Given the description of an element on the screen output the (x, y) to click on. 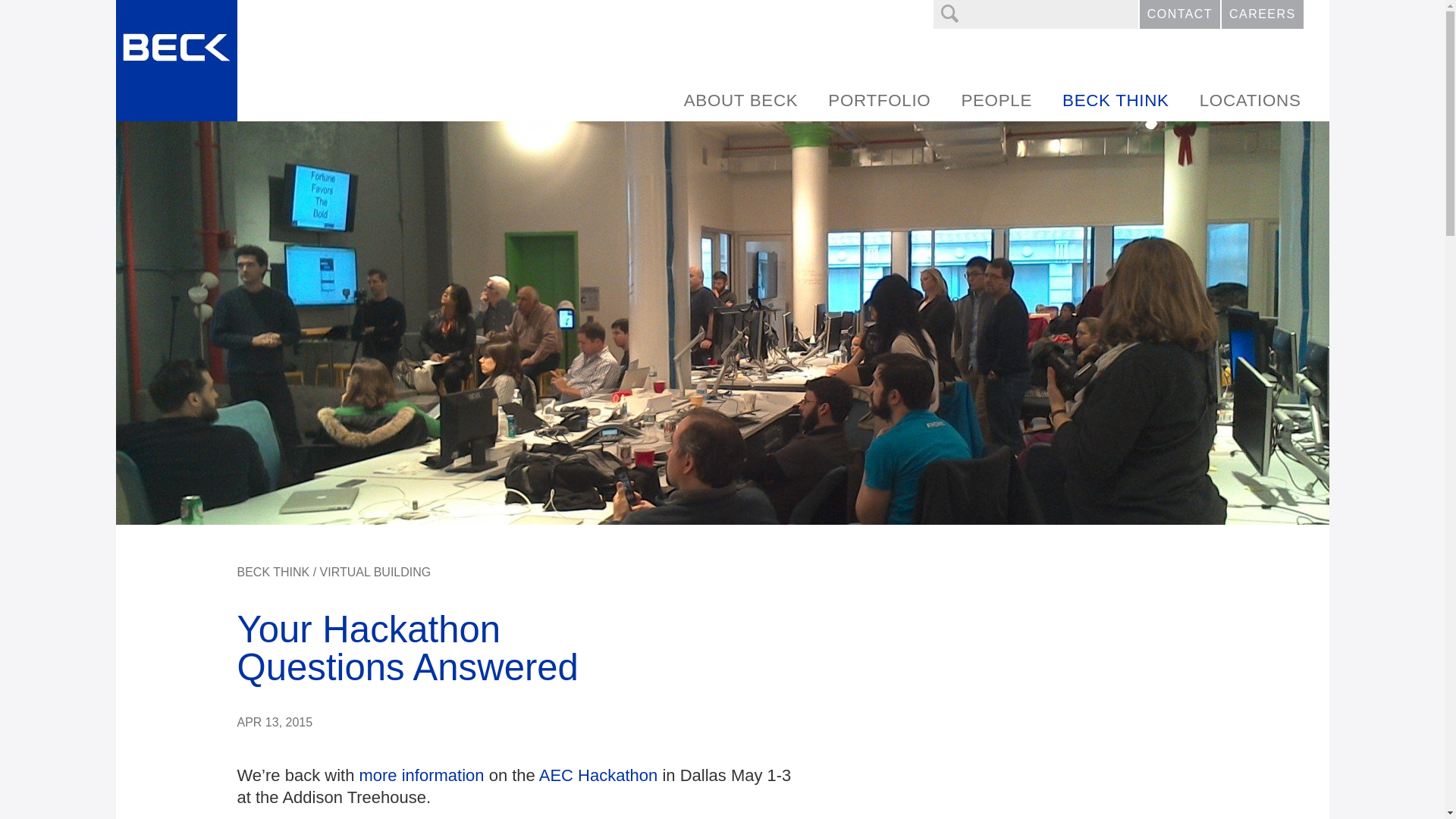
Search efter: (1035, 14)
PEOPLE (995, 100)
ABOUT BECK (740, 100)
The Beck Group (175, 60)
LOCATIONS (1250, 100)
BECK THINK (1115, 100)
PORTFOLIO (878, 100)
